Given the description of an element on the screen output the (x, y) to click on. 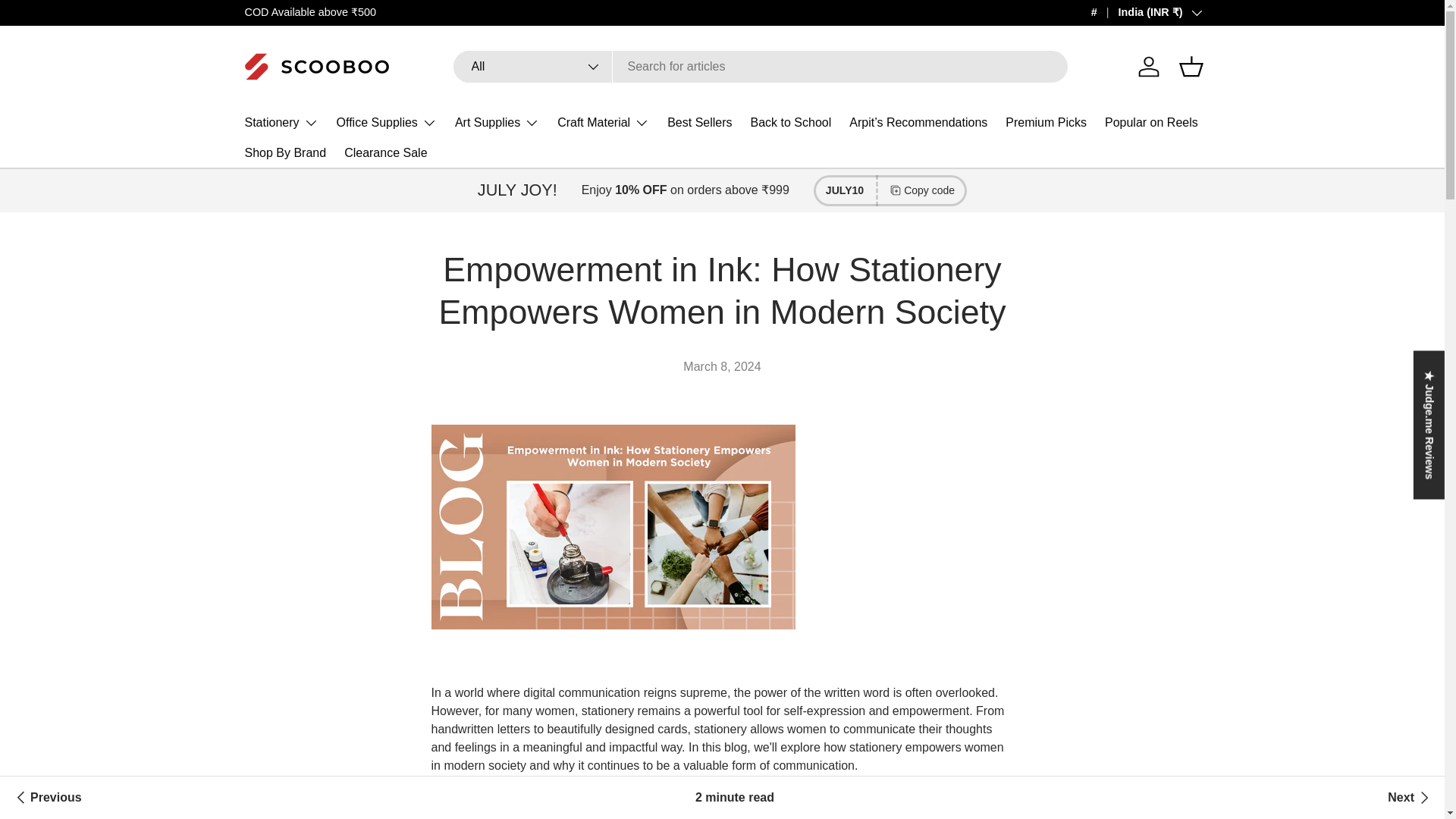
Celebrating World Book Day: A Tribute to the Written Word (46, 797)
Stationery (280, 122)
Log in (1147, 66)
All (532, 66)
Basket (1190, 66)
Skip to content (69, 22)
